Given the description of an element on the screen output the (x, y) to click on. 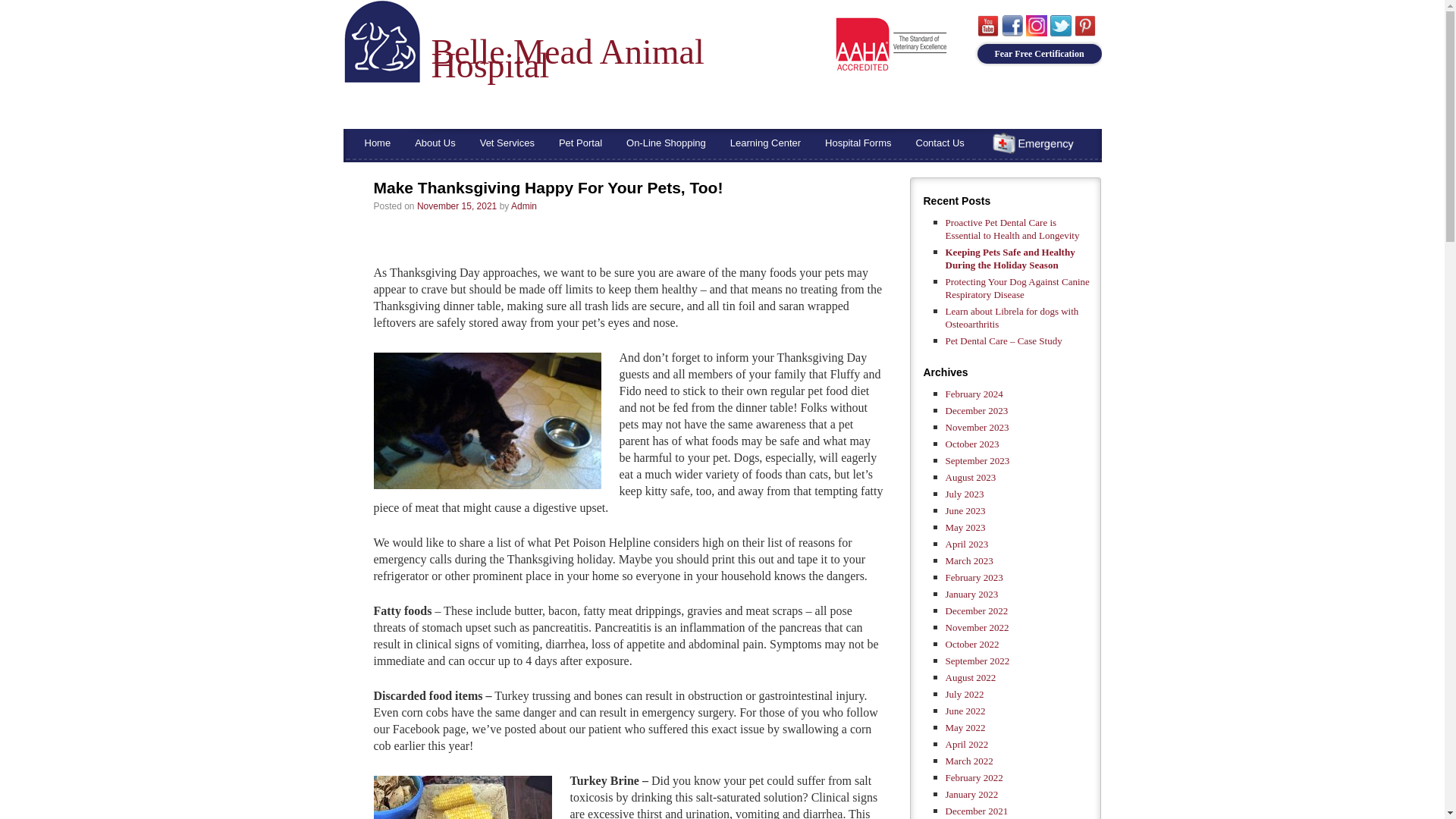
On-Line Shopping (665, 143)
Learning Center (764, 143)
Home (377, 143)
Vet Services (507, 143)
Twitter (400, 245)
9:28 pm (456, 205)
About Us (435, 143)
Fear Free Certification (1038, 53)
View all posts by Admin (524, 205)
Facebook (381, 245)
Pet Portal (580, 143)
